Given the description of an element on the screen output the (x, y) to click on. 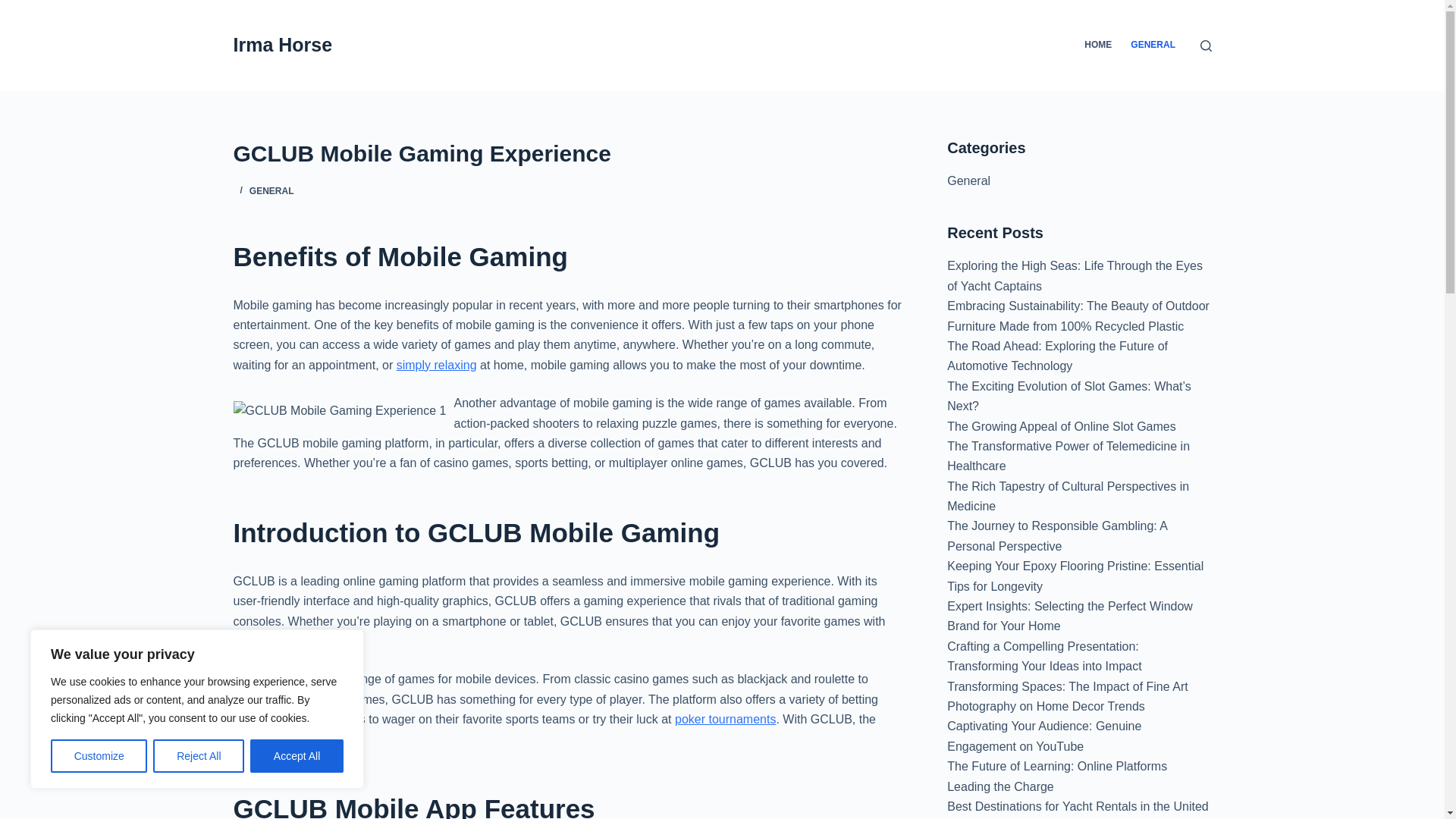
The Transformative Power of Telemedicine in Healthcare (1068, 455)
Accept All (296, 756)
Irma Horse (282, 44)
Reject All (198, 756)
GCLUB Mobile Gaming Experience (570, 153)
simply relaxing (436, 364)
poker tournaments (725, 718)
General (968, 180)
